Given the description of an element on the screen output the (x, y) to click on. 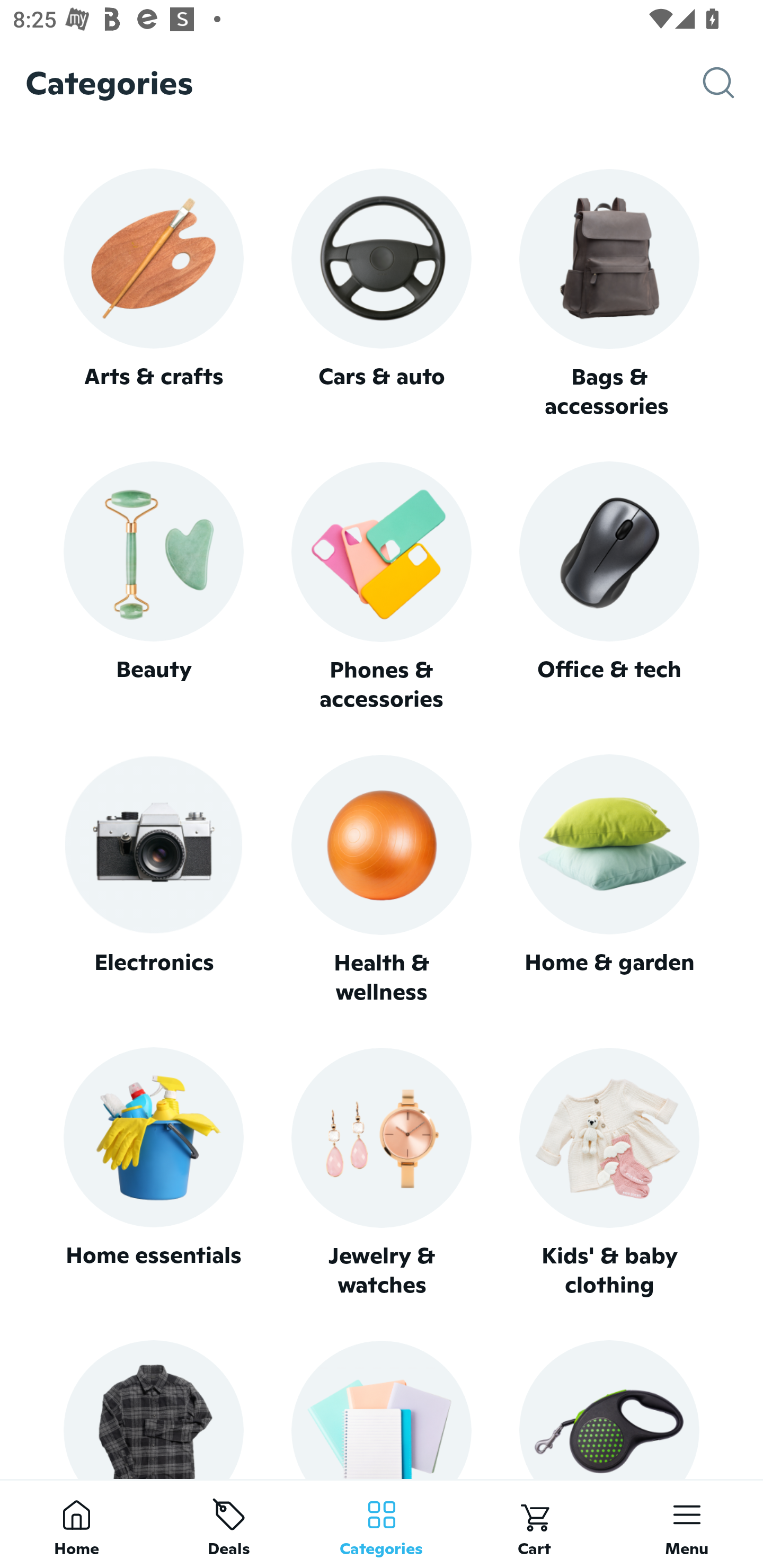
Search (732, 82)
Arts & crafts (153, 293)
Cars & auto (381, 293)
Bags & accessories  (609, 294)
Beauty (153, 586)
Office & tech (609, 586)
Phones & accessories (381, 587)
Electronics (153, 880)
Home & garden (609, 880)
Health & wellness (381, 880)
Home essentials (153, 1172)
Jewelry & watches (381, 1172)
Kids' & baby clothing (609, 1172)
Men's clothing (153, 1409)
Pet supplies (609, 1409)
Office & school supplies (381, 1409)
Home (76, 1523)
Deals (228, 1523)
Categories (381, 1523)
Cart (533, 1523)
Menu (686, 1523)
